Given the description of an element on the screen output the (x, y) to click on. 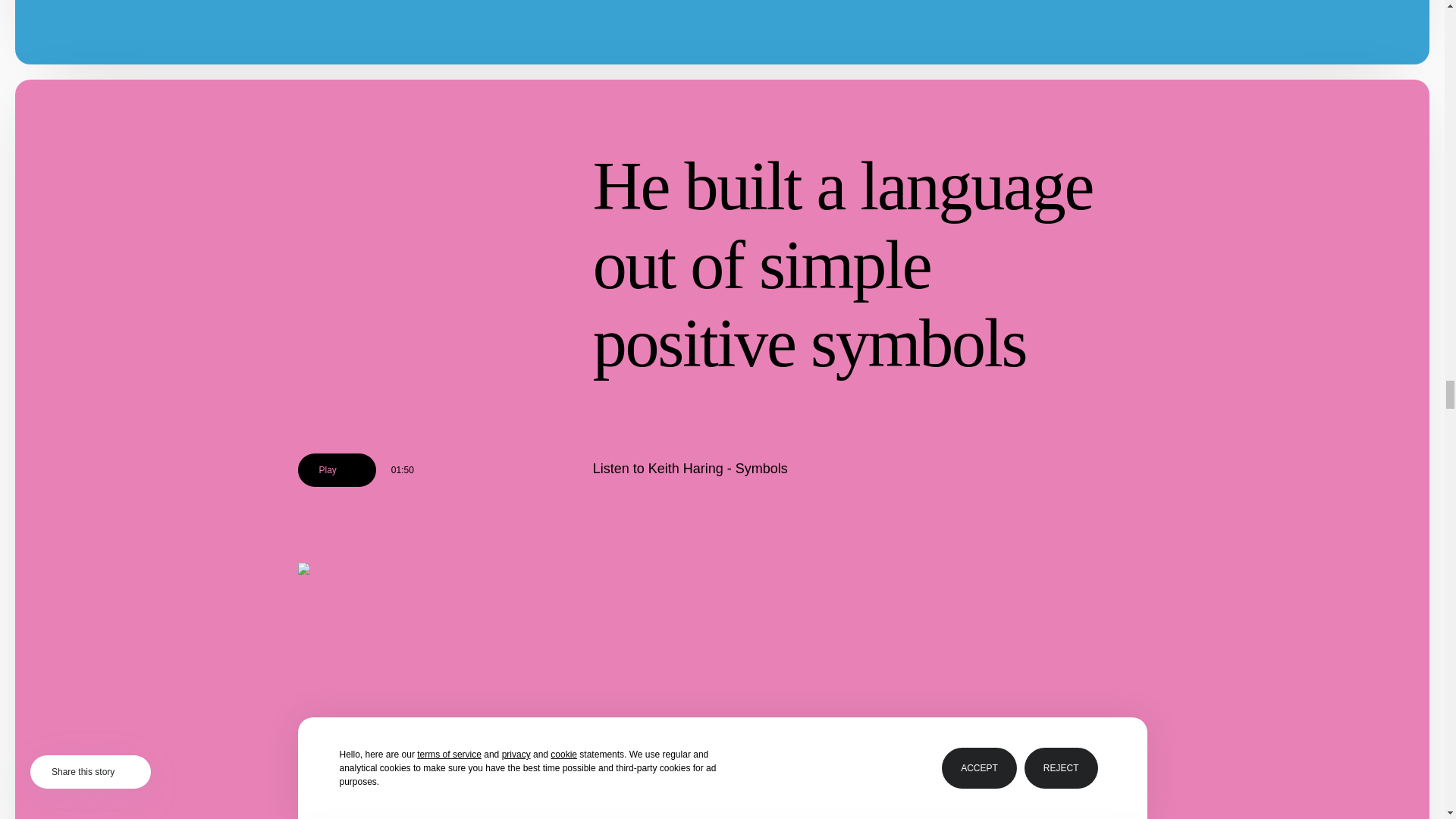
Play (336, 469)
